Given the description of an element on the screen output the (x, y) to click on. 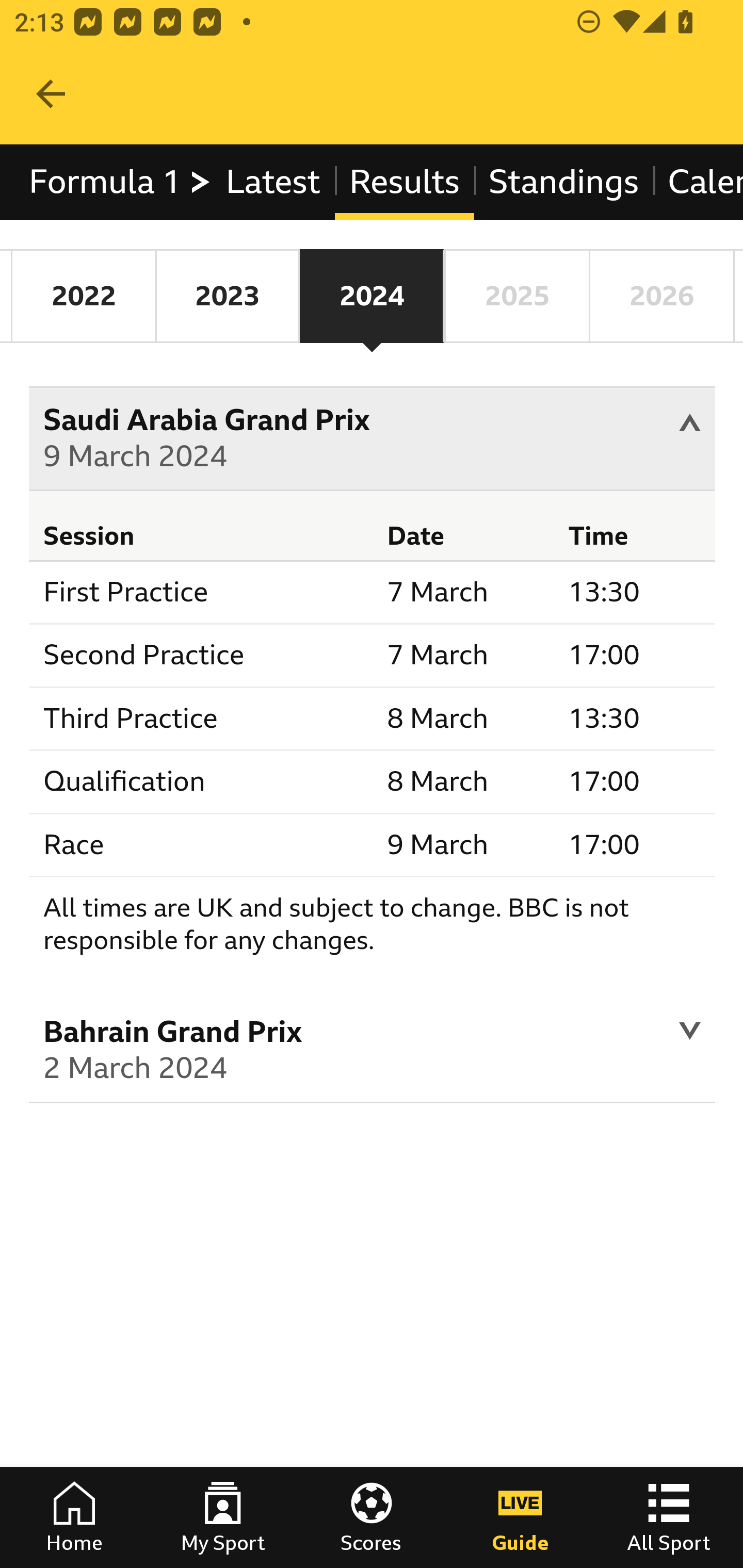
Navigate up (50, 93)
Formula 1  (120, 181)
Latest (272, 181)
Results (403, 181)
Standings (564, 181)
2022 (83, 296)
2023 (227, 296)
2024, Selected 2024 , Selected (371, 296)
Bahrain Grand Prix, Bahrain IC 2 March 2024 (372, 1052)
Home (74, 1517)
My Sport (222, 1517)
Scores (371, 1517)
All Sport (668, 1517)
